Given the description of an element on the screen output the (x, y) to click on. 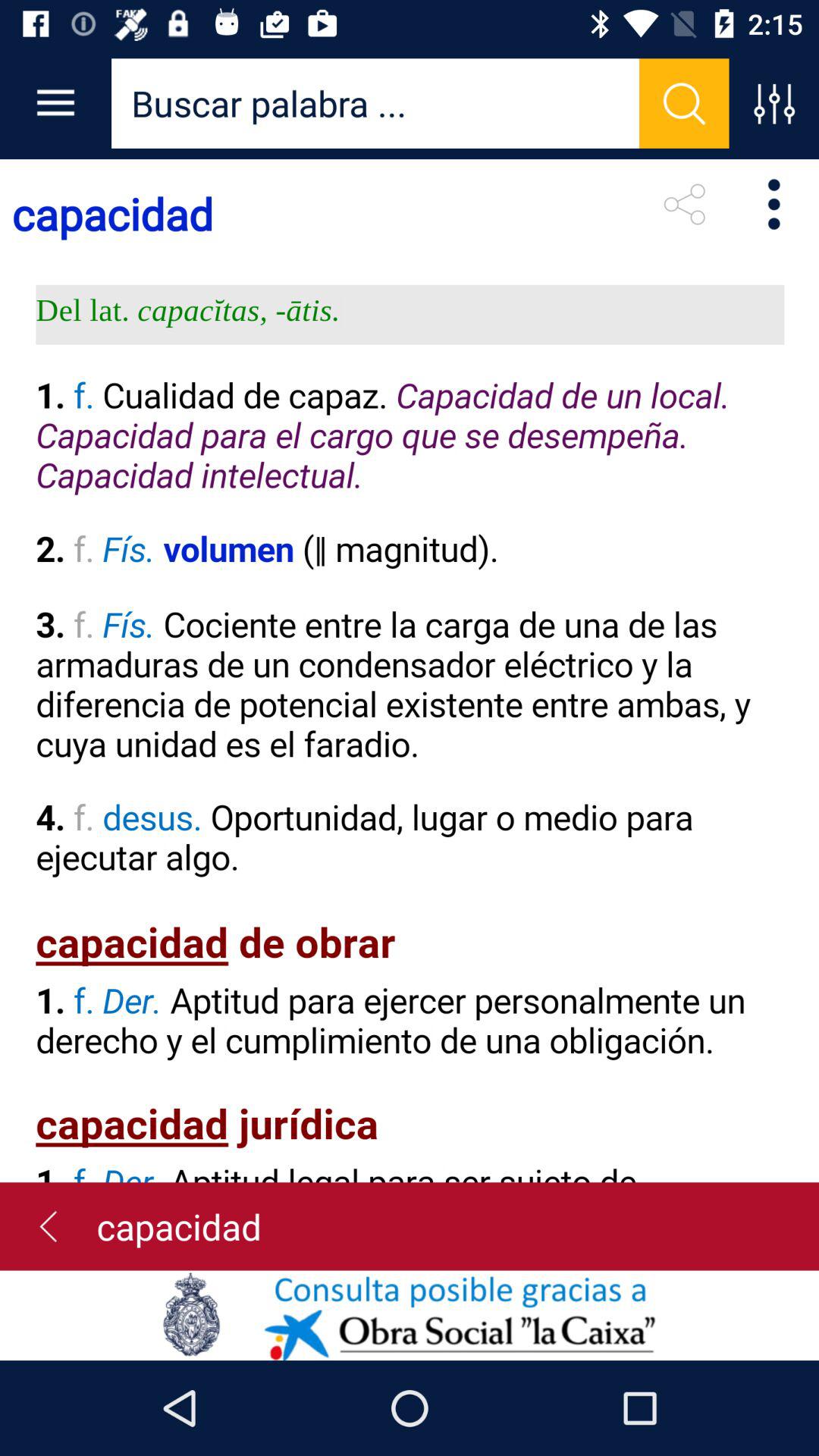
search (375, 103)
